Given the description of an element on the screen output the (x, y) to click on. 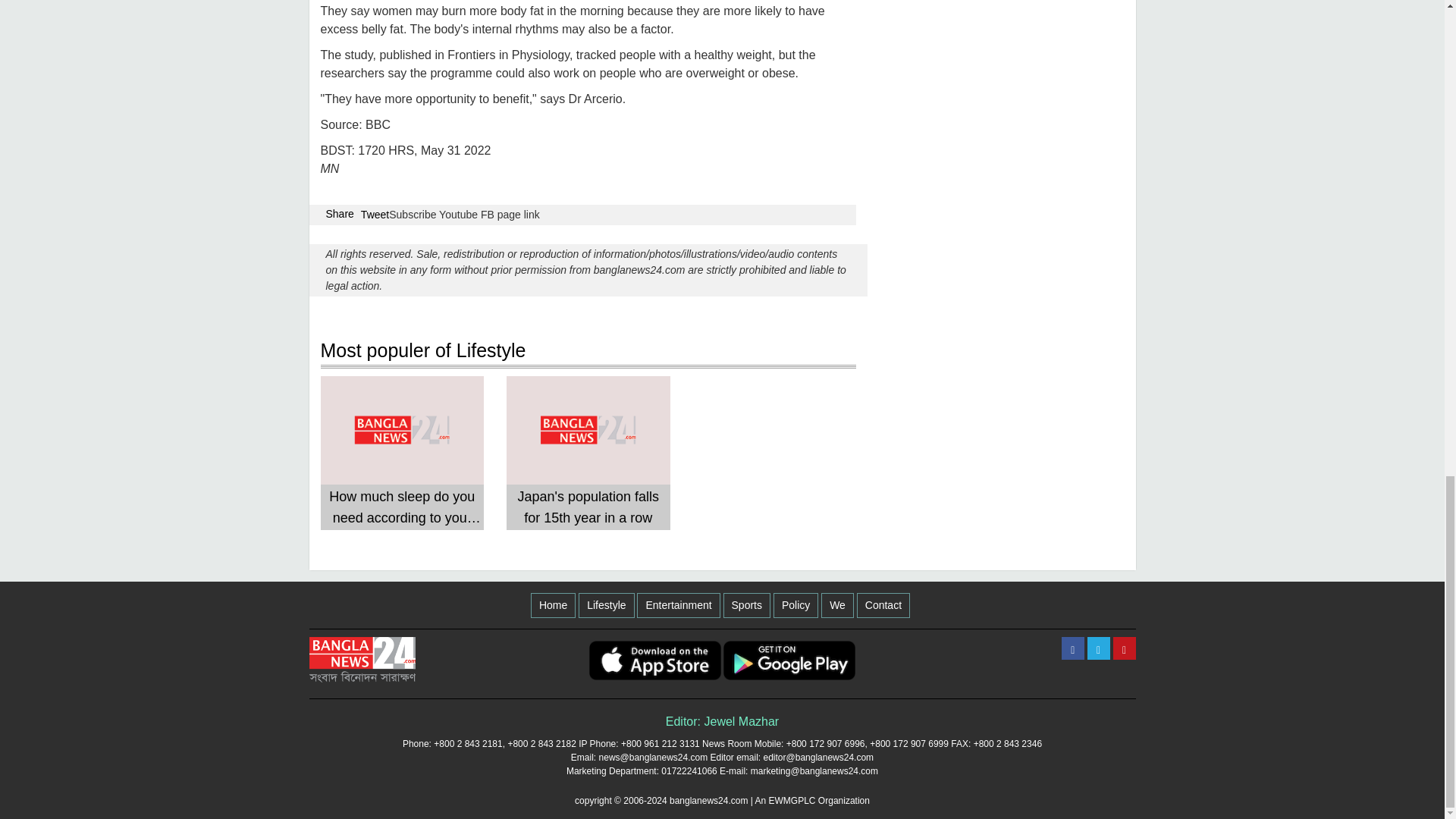
Home (553, 605)
Most populer of Lifestyle (588, 351)
Find us on Youtube (1124, 648)
Find us at Apple AppStore (654, 660)
Japan's population falls for 15th year in a row (587, 506)
Tweet (374, 214)
How much sleep do you need according to your age: Study (401, 506)
Find us at Googel Play (788, 660)
bangla news (361, 659)
Follow us at Twitter (1098, 648)
Share (339, 214)
How much sleep do you need according to your age: Study (401, 506)
Japan's population falls for 15th year in a row (587, 506)
Find us on Facebook (1072, 648)
